Given the description of an element on the screen output the (x, y) to click on. 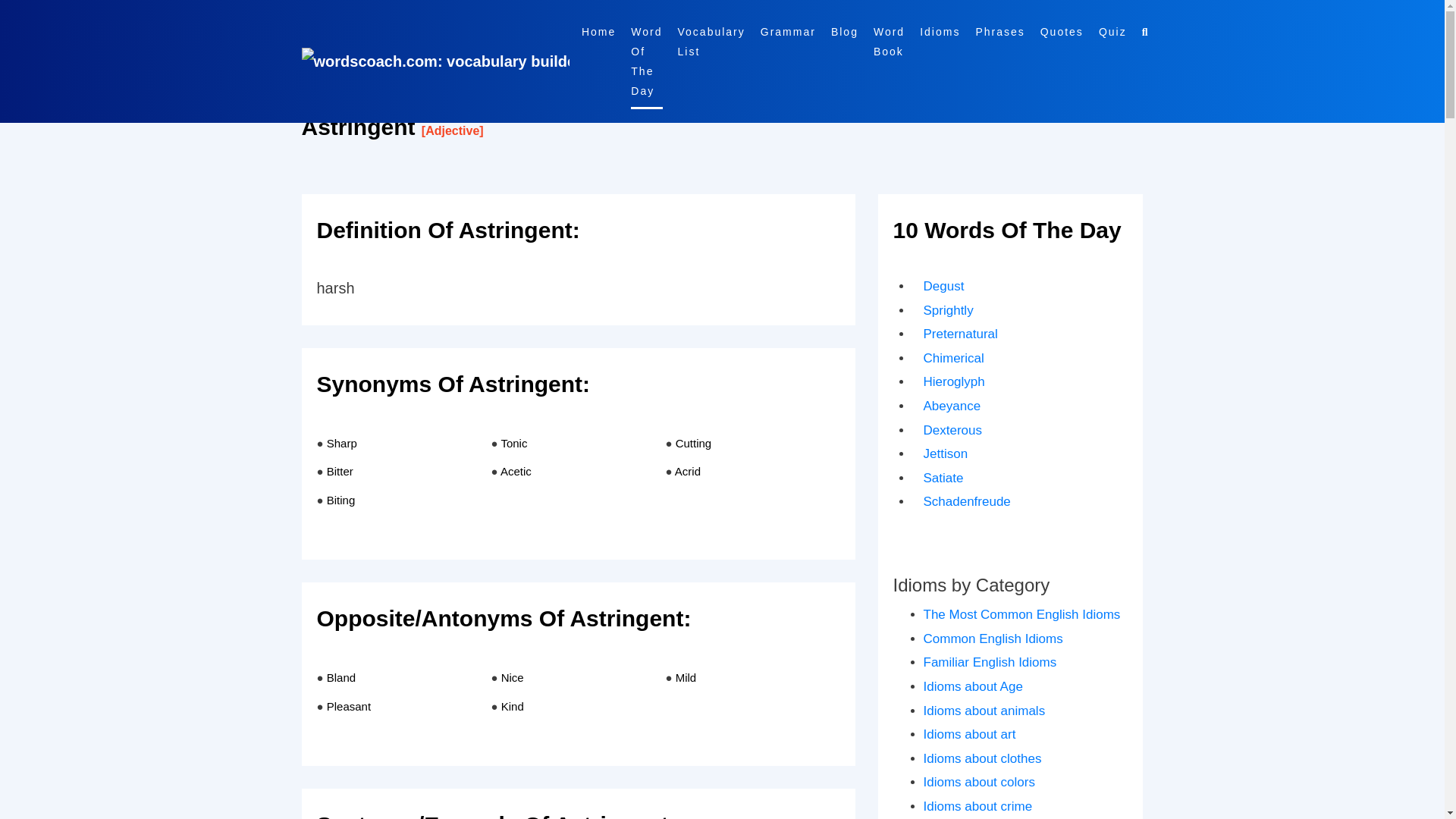
wordscoach.com: vocabulary builder (435, 61)
Idioms (939, 31)
Idioms about Age (973, 686)
Idioms: Word coach (939, 31)
Words Coach: Vocabulary List (711, 41)
Mild (686, 676)
Home (597, 31)
Word coach: Word book (787, 31)
Quotes (1062, 31)
Kind (512, 706)
